Given the description of an element on the screen output the (x, y) to click on. 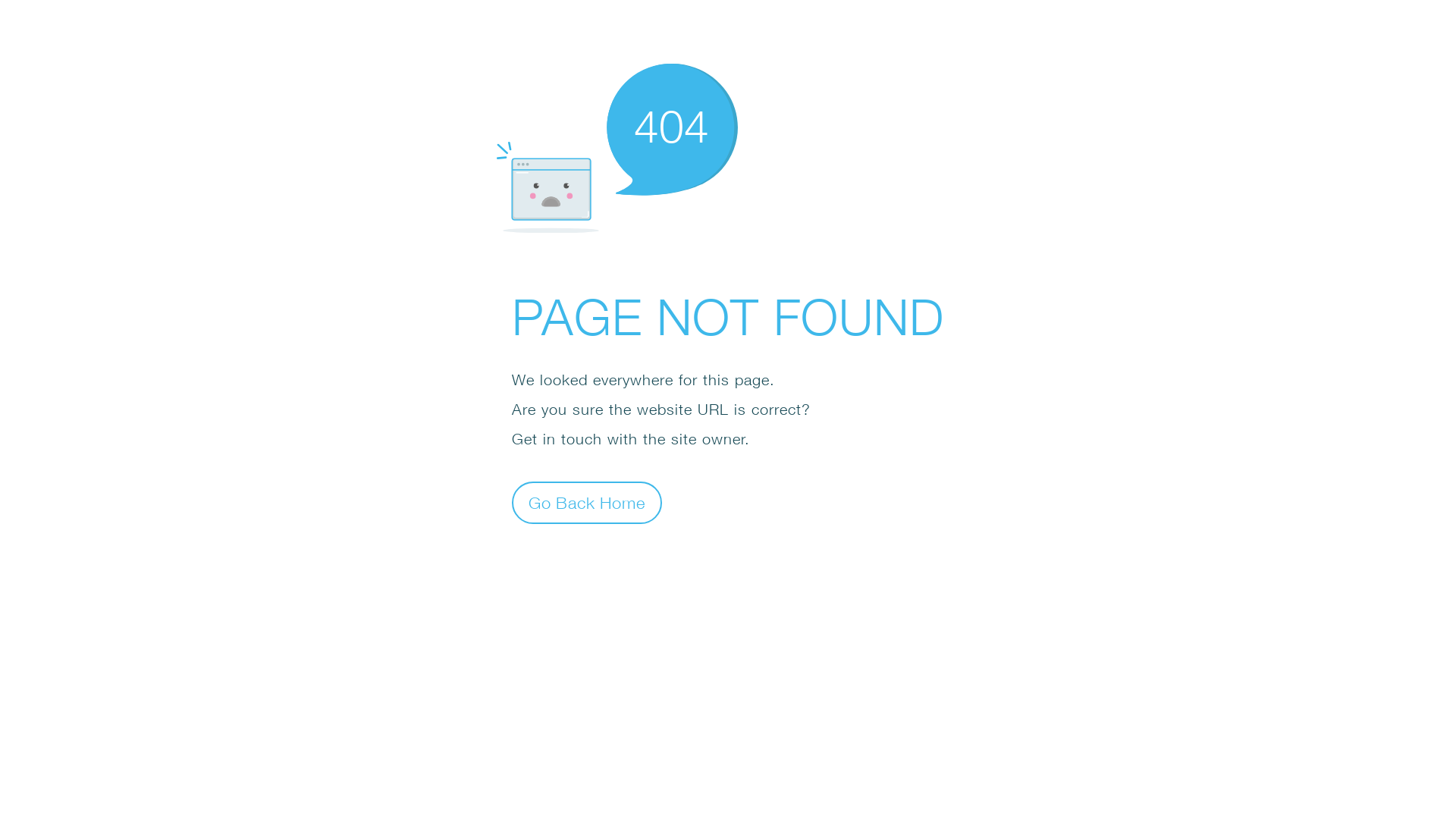
Go Back Home Element type: text (586, 502)
